Given the description of an element on the screen output the (x, y) to click on. 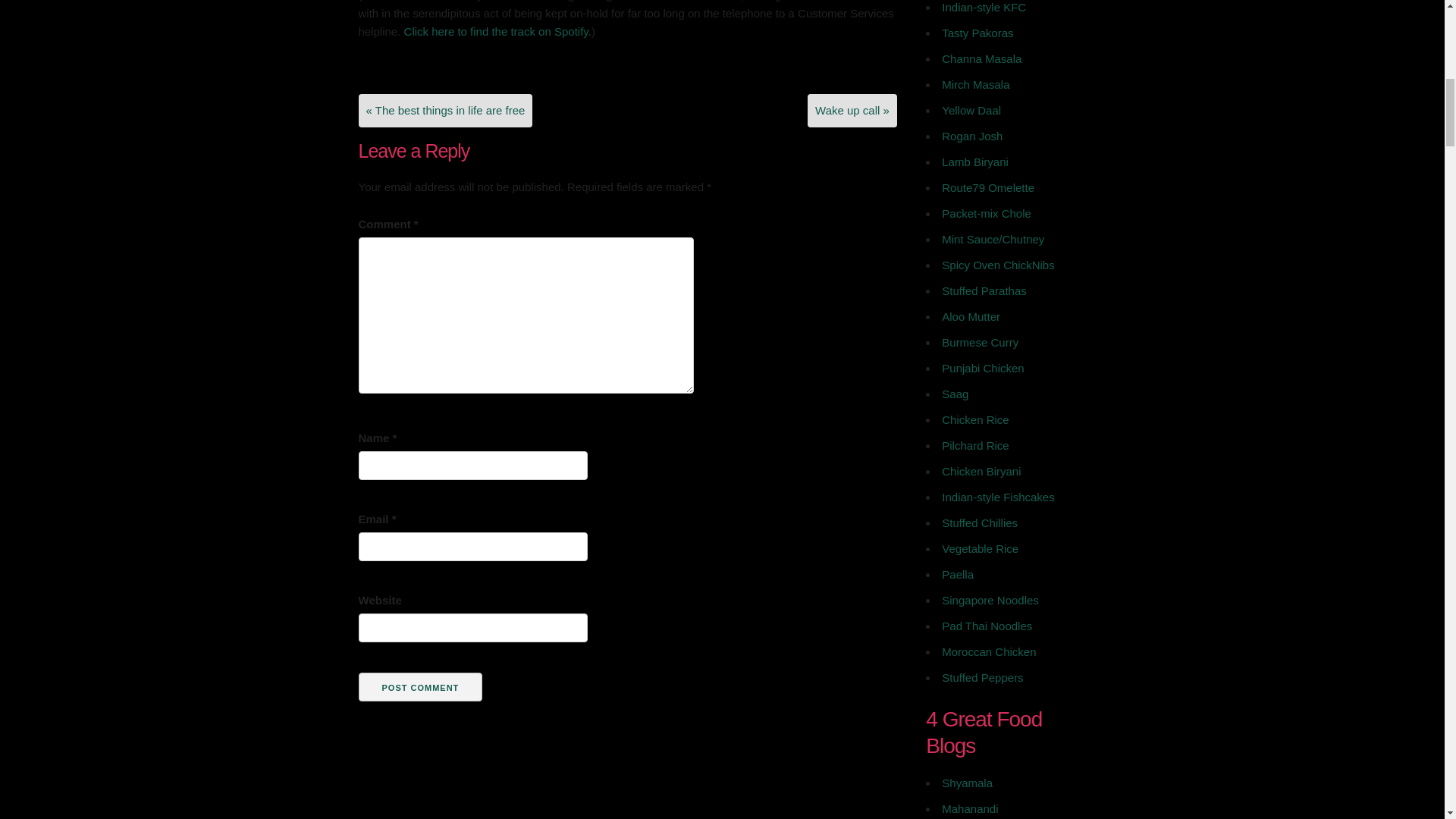
Mirch Masala (975, 83)
Packet-mix Chole (986, 213)
Spicy Oven ChickNibs (998, 264)
Indian-style KFC (984, 6)
Rogan Josh (972, 135)
Route79 Omelette (987, 187)
Post Comment (419, 686)
Click here to find the track on Spotify. (497, 30)
Tasty Pakoras (977, 32)
Yellow Daal (971, 110)
Channa Masala (982, 58)
Lamb Biryani (975, 161)
Post Comment (419, 686)
